Given the description of an element on the screen output the (x, y) to click on. 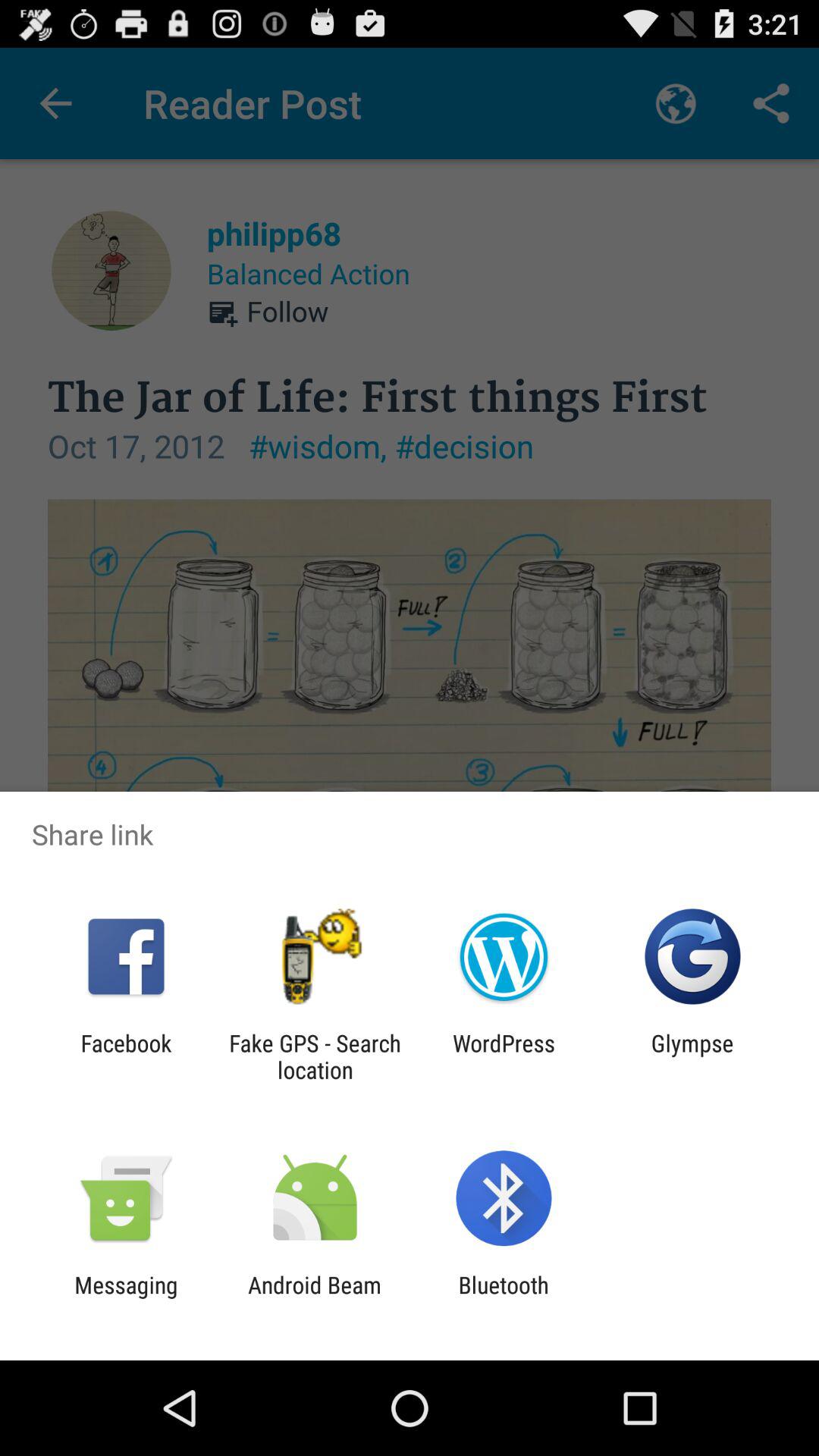
turn off the glympse at the bottom right corner (692, 1056)
